Given the description of an element on the screen output the (x, y) to click on. 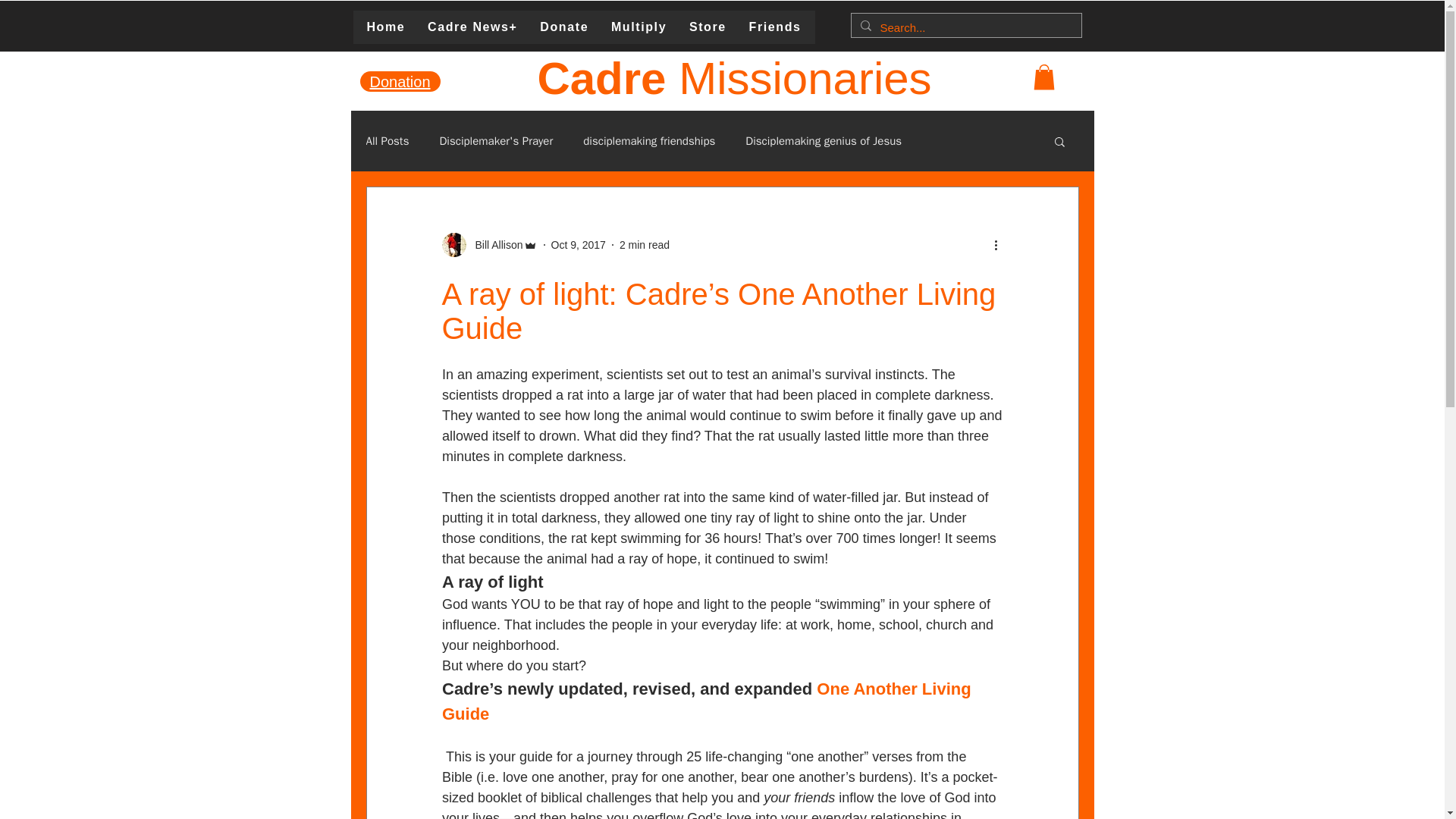
Friends (774, 27)
Multiply (639, 27)
Donate (563, 27)
Oct 9, 2017 (578, 244)
2 min read (644, 244)
Bill Allison (493, 245)
Store (707, 27)
Home (385, 27)
